Given the description of an element on the screen output the (x, y) to click on. 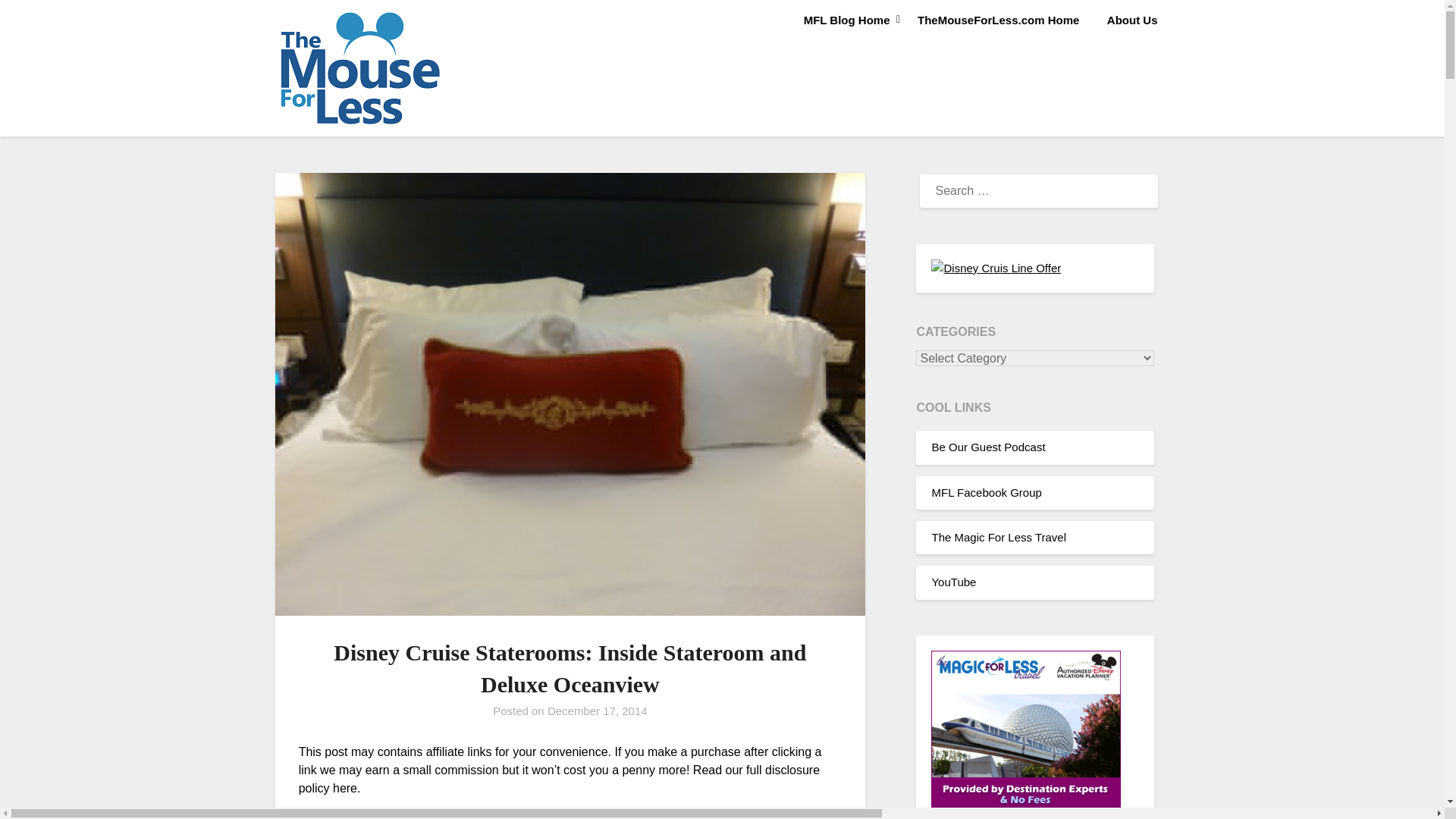
TheMouseForLess You Tube Channel (953, 581)
TheMouseForLess.com Home (997, 20)
The Mouse For Less Facebook Group (986, 492)
About Us (1132, 20)
MFL Blog Home (847, 20)
December 17, 2014 (597, 710)
